Given the description of an element on the screen output the (x, y) to click on. 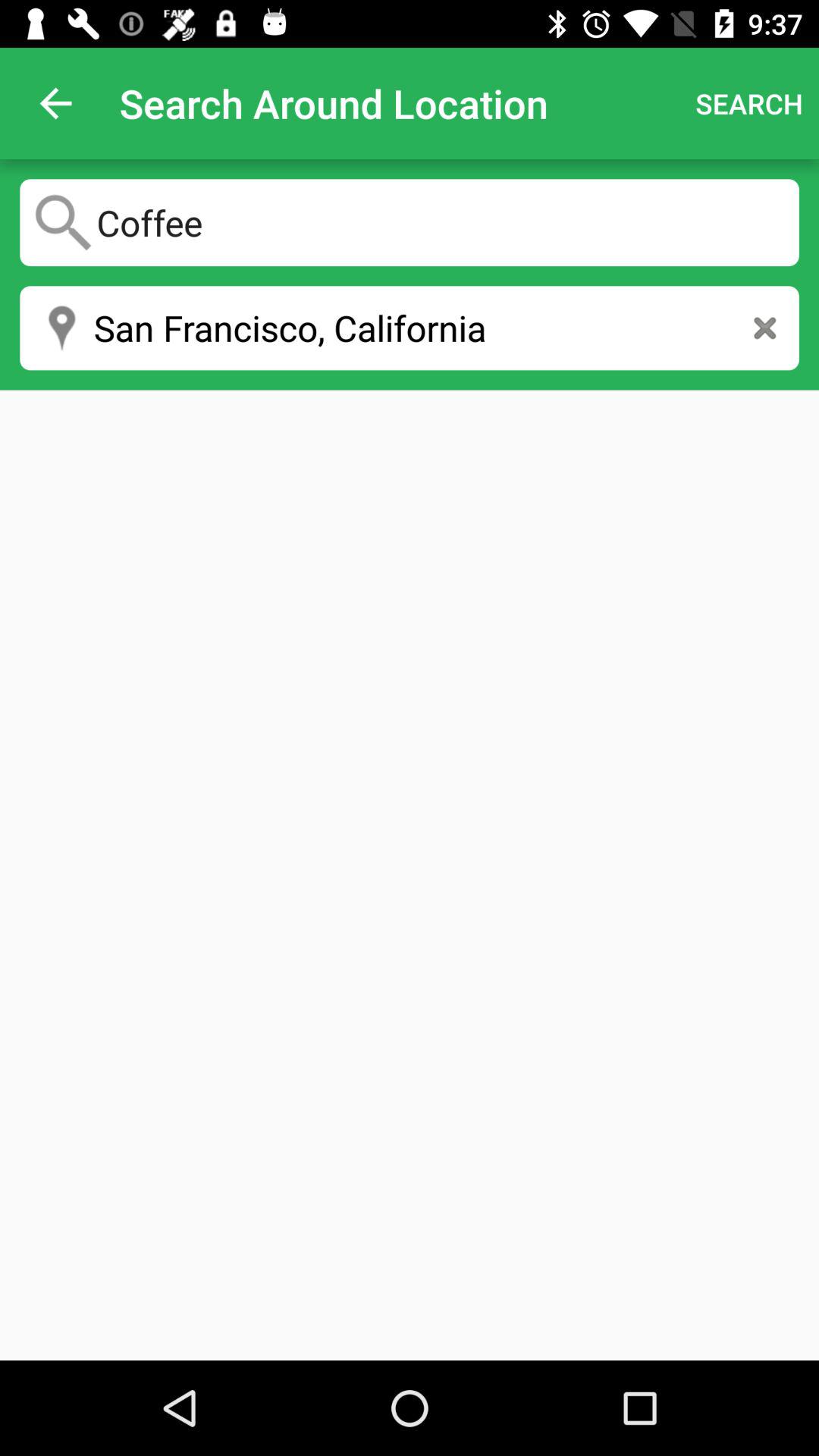
tap the icon above san francisco, california item (409, 222)
